Given the description of an element on the screen output the (x, y) to click on. 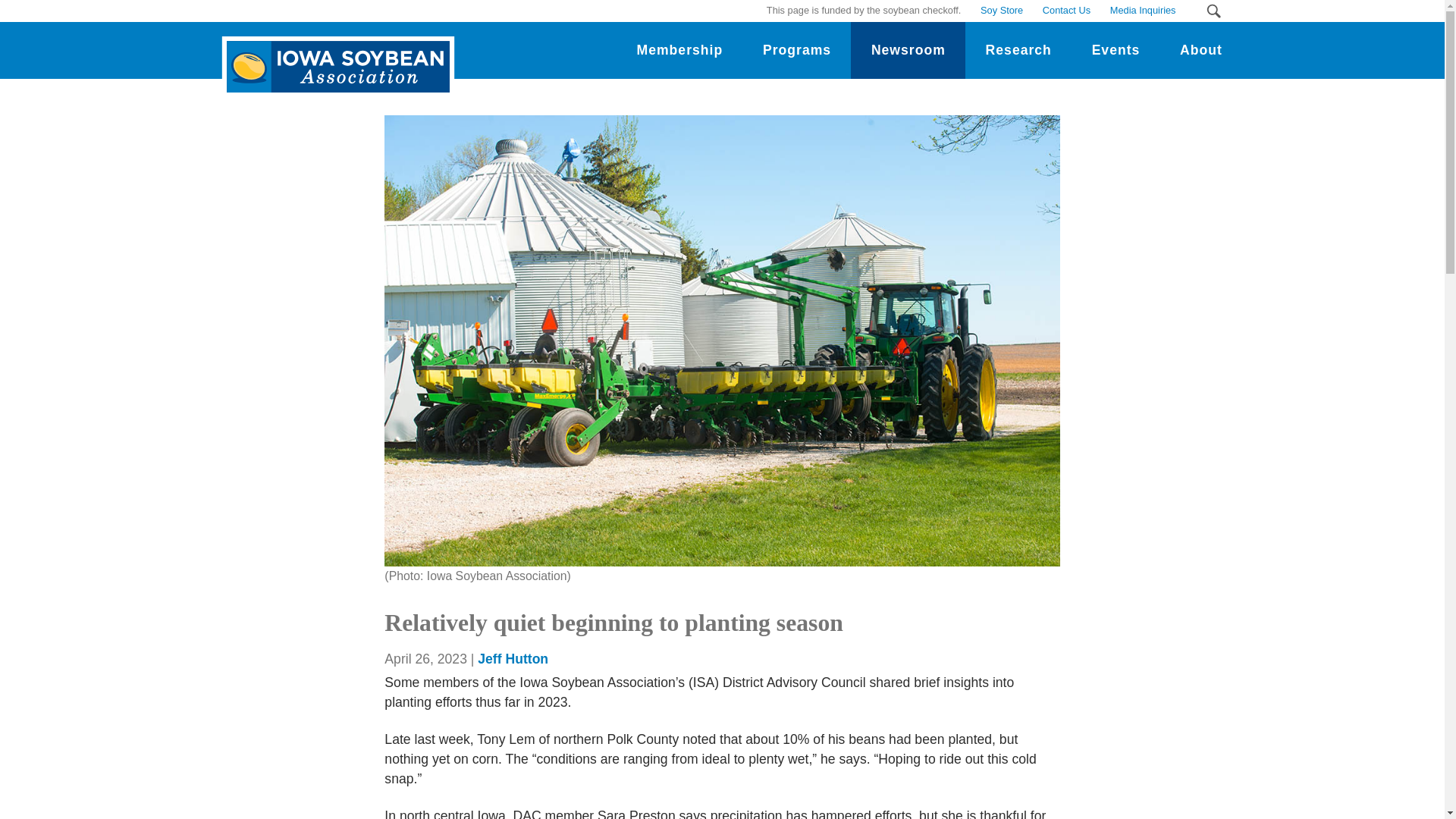
Programs (796, 50)
Events (1114, 50)
About (1201, 50)
Membership (678, 50)
Contact Us (1066, 11)
This page is funded by the soybean checkoff. (864, 11)
Media Inquiries (1142, 11)
Soy Store (1001, 11)
Search (1213, 11)
Iowa Soybean Association. Link to homepage (334, 54)
Newsroom (907, 50)
Research (1018, 50)
